Given the description of an element on the screen output the (x, y) to click on. 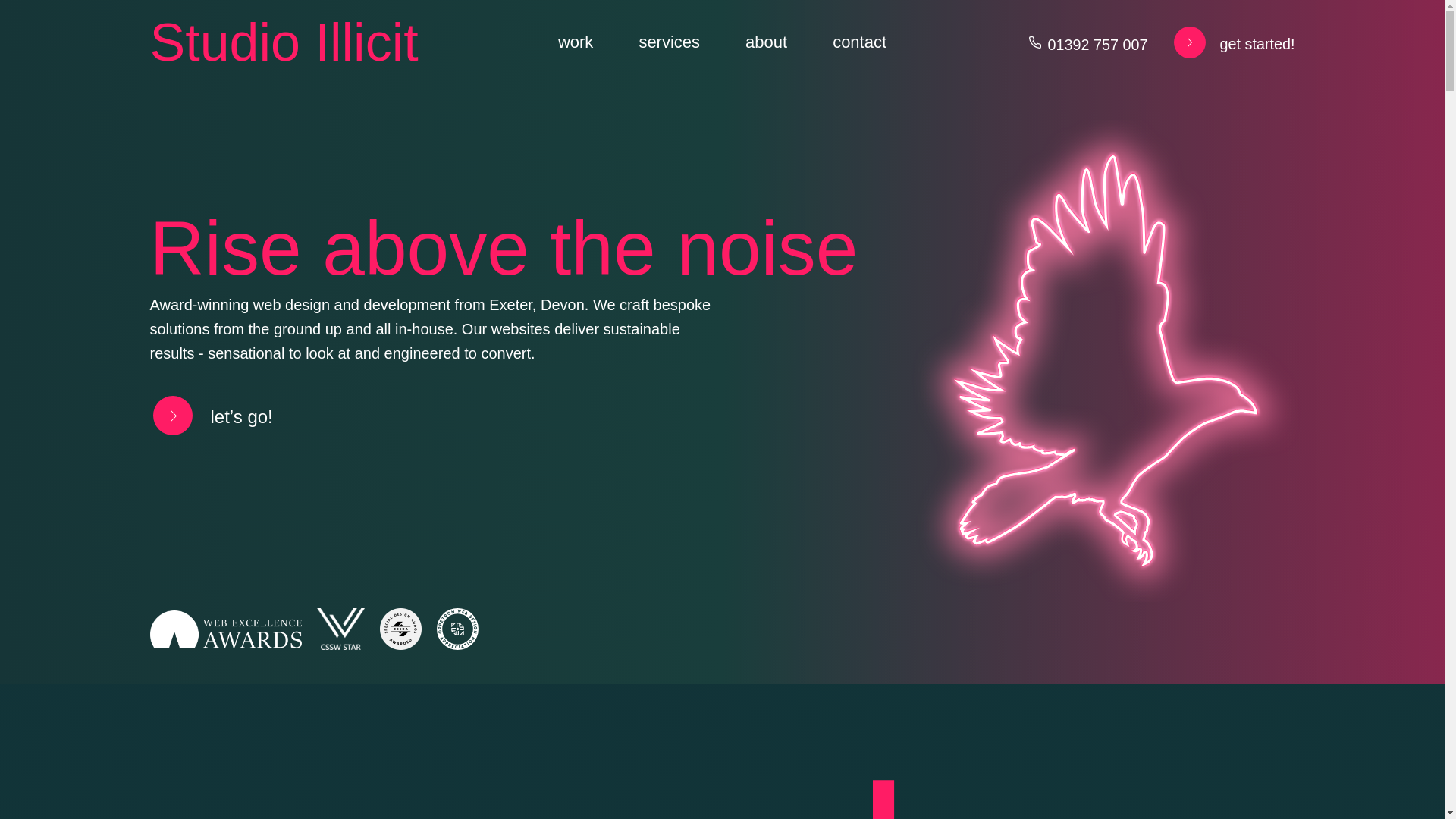
Studio Illicit (286, 42)
contact (858, 42)
get started! (1226, 42)
work (575, 42)
01392 757 007 (1088, 42)
